Given the description of an element on the screen output the (x, y) to click on. 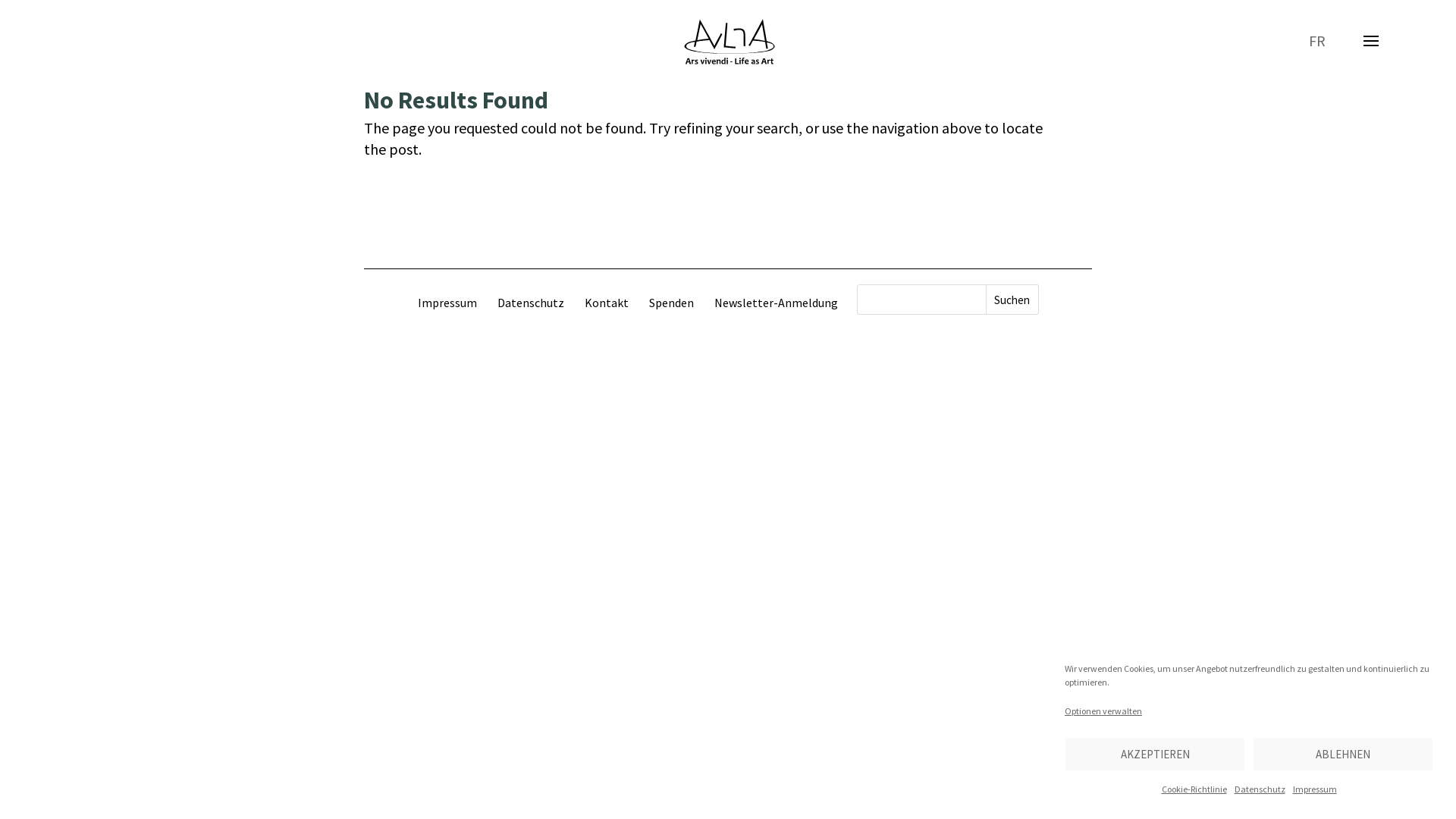
Newsletter-Anmeldung Element type: text (775, 302)
FR Element type: text (1317, 40)
Impressum Element type: text (1314, 789)
Suchen Element type: text (1011, 299)
Impressum Element type: text (446, 302)
ABLEHNEN Element type: text (1342, 754)
Datenschutz Element type: text (1259, 789)
Spenden Element type: text (671, 302)
Kontakt Element type: text (605, 302)
AKZEPTIEREN Element type: text (1154, 754)
Datenschutz Element type: text (530, 302)
Optionen verwalten Element type: text (1103, 710)
Cookie-Richtlinie Element type: text (1193, 789)
